Given the description of an element on the screen output the (x, y) to click on. 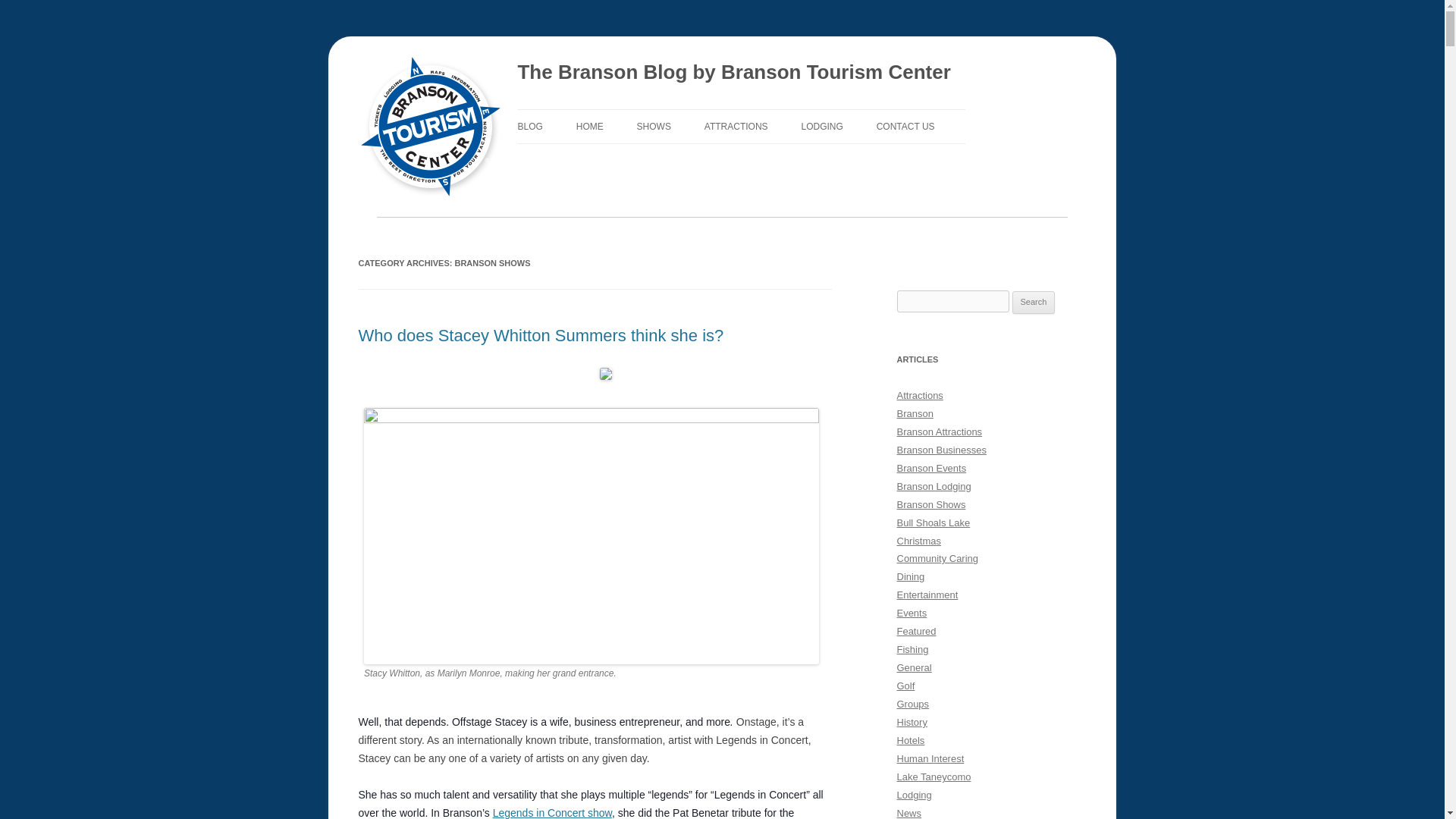
Attractions (736, 126)
ATTRACTIONS (736, 126)
The Branson Blog by Branson Tourism Center (733, 72)
Contact Us (905, 126)
The Branson Blog by Branson Tourism Center (733, 72)
Legends in Concert show (552, 812)
Who does Stacey Whitton Summers think she is? (540, 334)
SHOWS (654, 126)
